Given the description of an element on the screen output the (x, y) to click on. 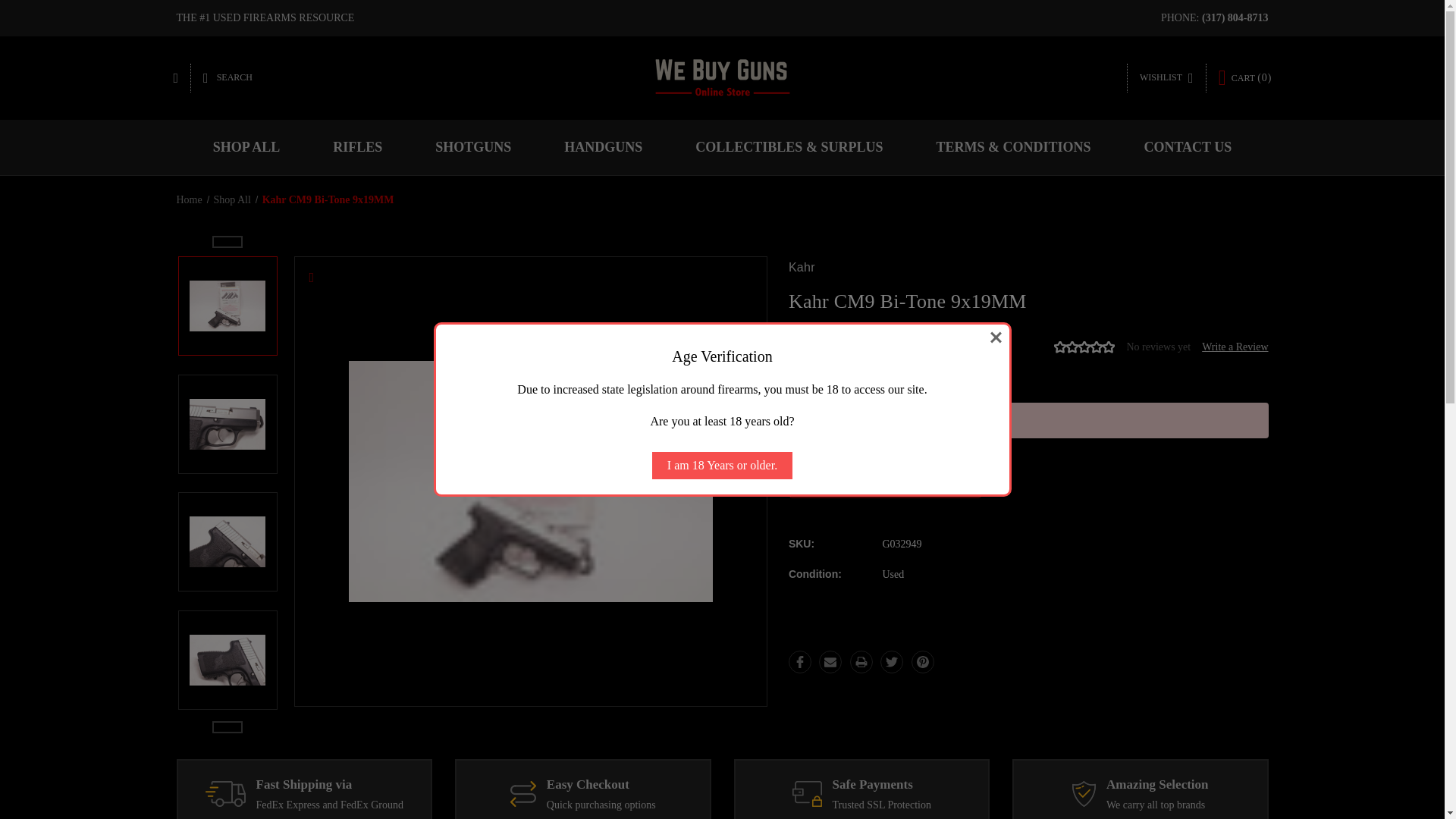
Kahr (802, 267)
RIFLES (357, 147)
CONTACT US (1186, 147)
SEARCH (227, 77)
Home (189, 199)
Shop All (231, 199)
CART 0 (1245, 77)
WISHLIST (1165, 77)
SHOP ALL (246, 147)
store.webuyguns.com (721, 76)
